Given the description of an element on the screen output the (x, y) to click on. 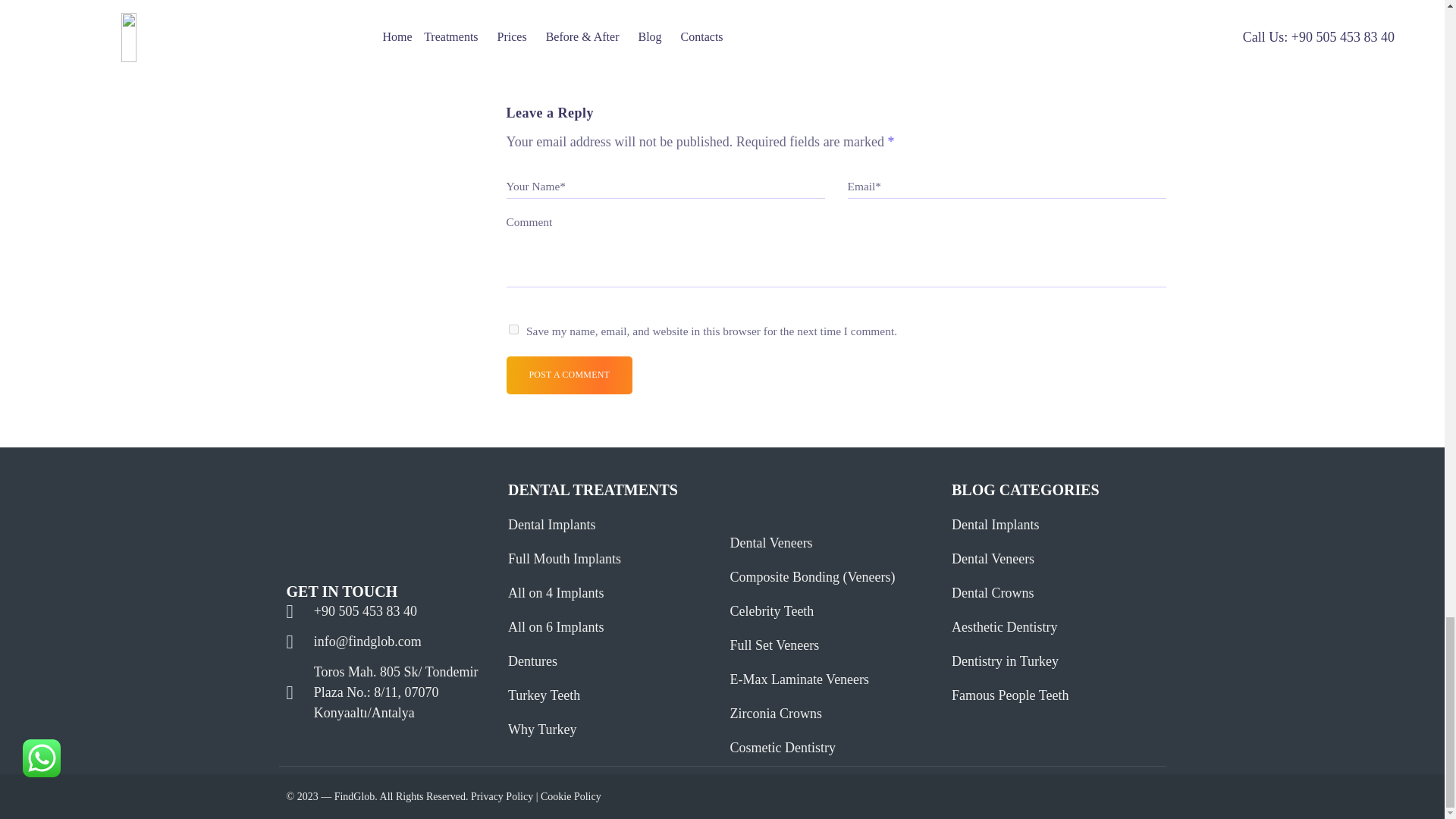
yes (513, 329)
pixeldigital-04 (373, 501)
